Given the description of an element on the screen output the (x, y) to click on. 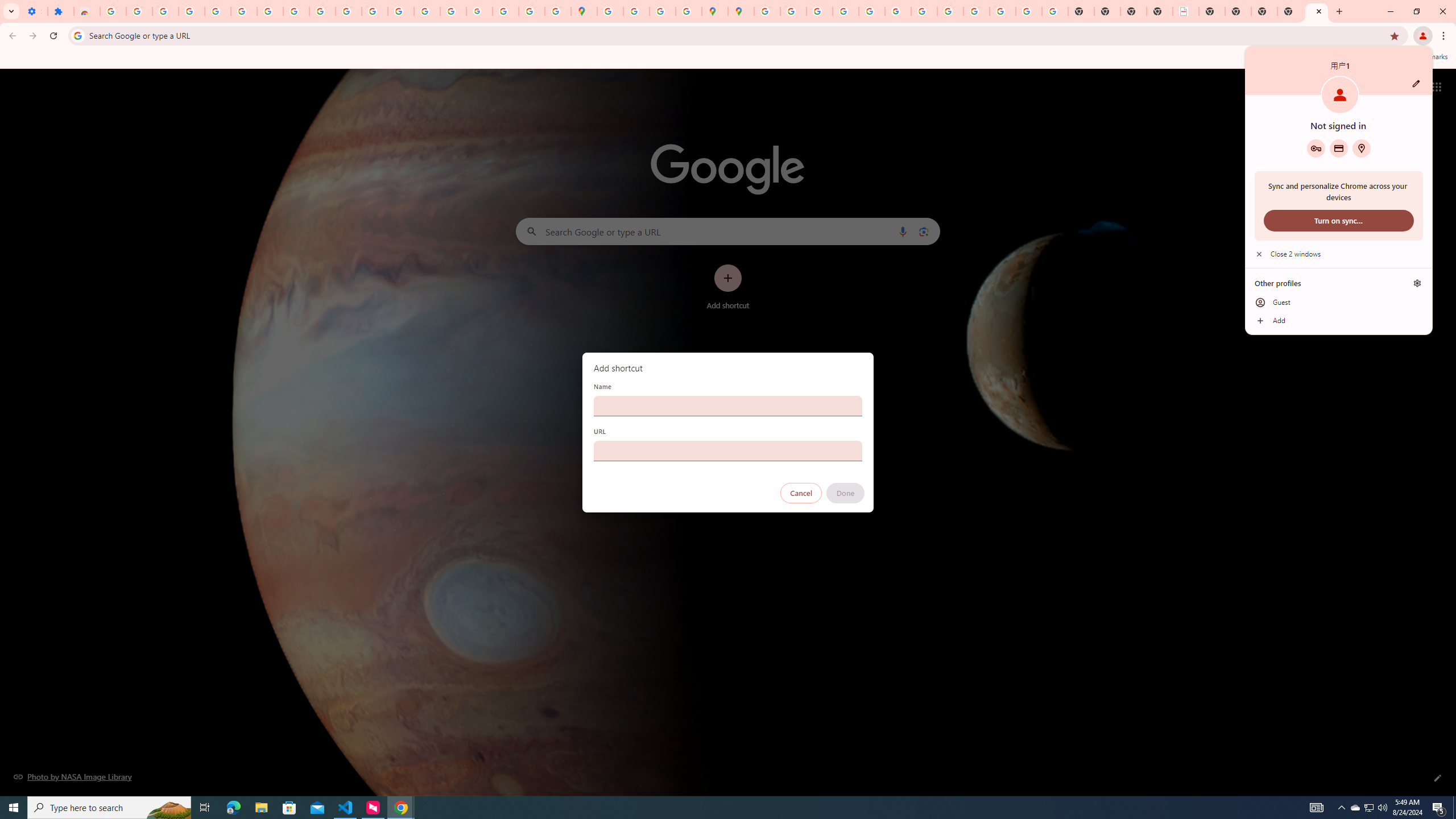
Microsoft Edge (233, 807)
Extensions (60, 11)
Google Account (296, 11)
URL (727, 450)
Google Chrome - 2 running windows (400, 807)
Google Maps (584, 11)
